Given the description of an element on the screen output the (x, y) to click on. 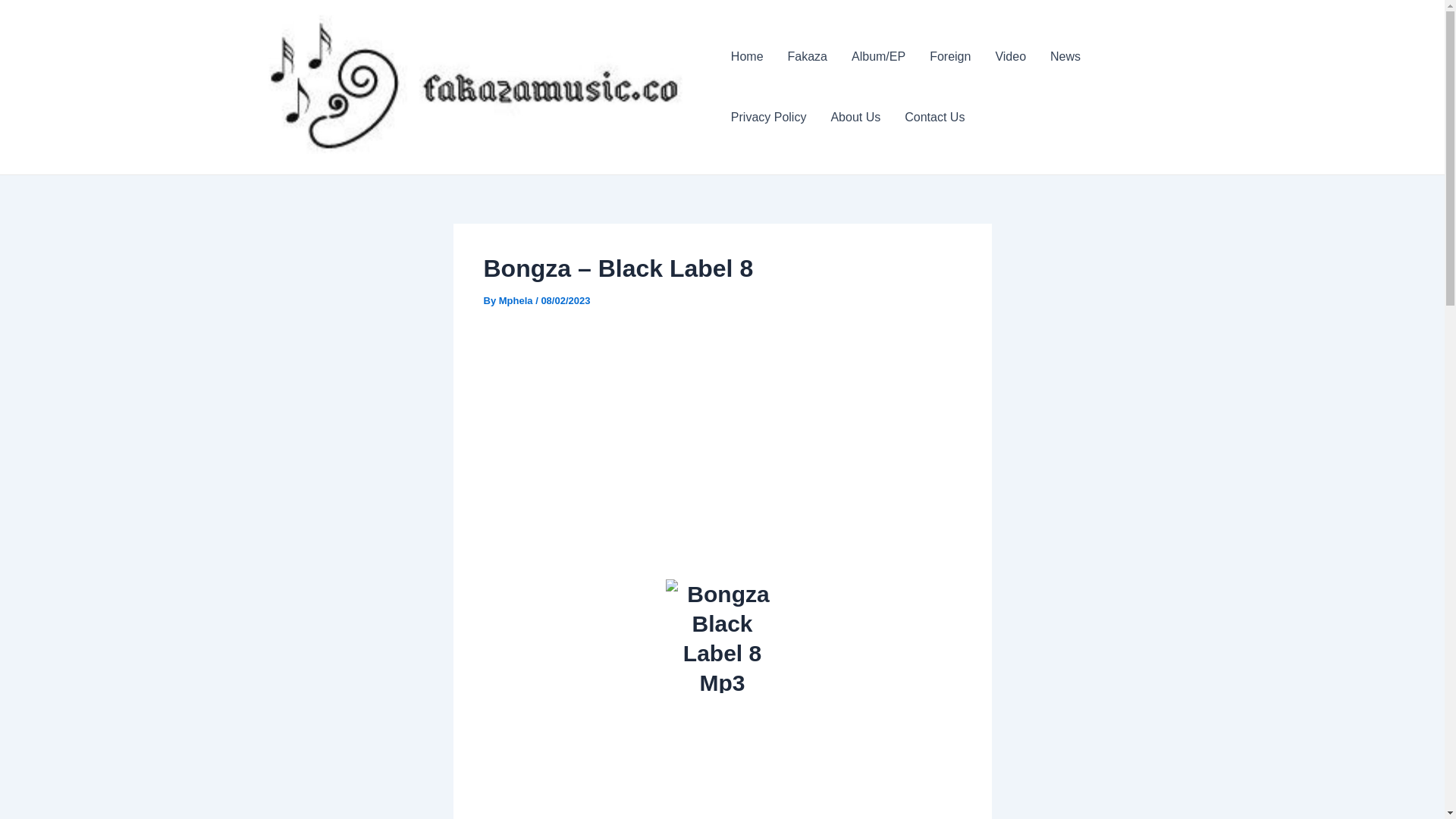
View all posts by Mphela (517, 300)
Home (747, 56)
About Us (855, 117)
Contact Us (934, 117)
Mphela (517, 300)
Foreign (949, 56)
News (1065, 56)
Advertisement (721, 438)
Fakaza (808, 56)
Video (1010, 56)
Advertisement (721, 755)
Privacy Policy (768, 117)
